Given the description of an element on the screen output the (x, y) to click on. 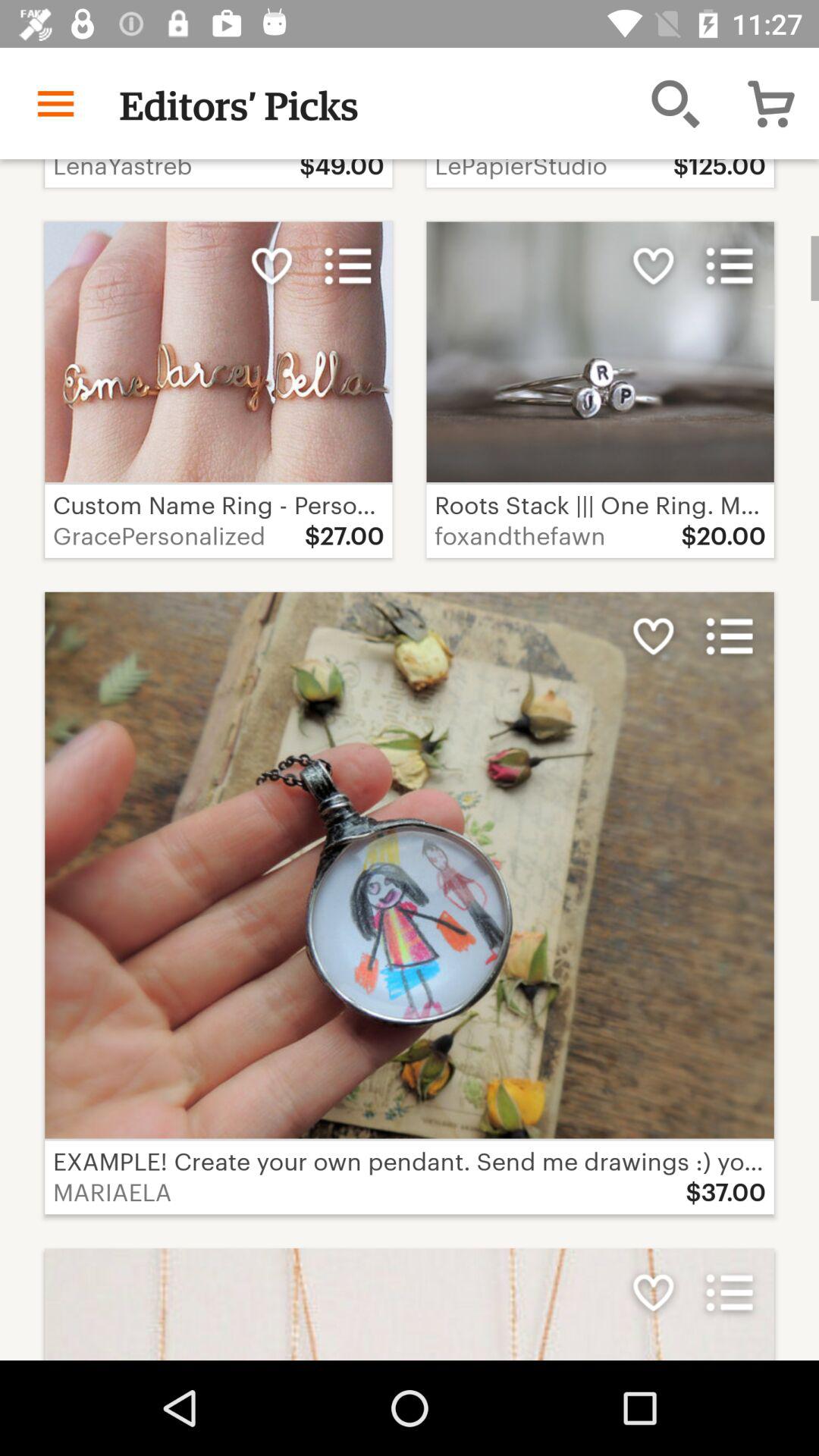
tap icon above the lepapierstudio item (675, 103)
